Given the description of an element on the screen output the (x, y) to click on. 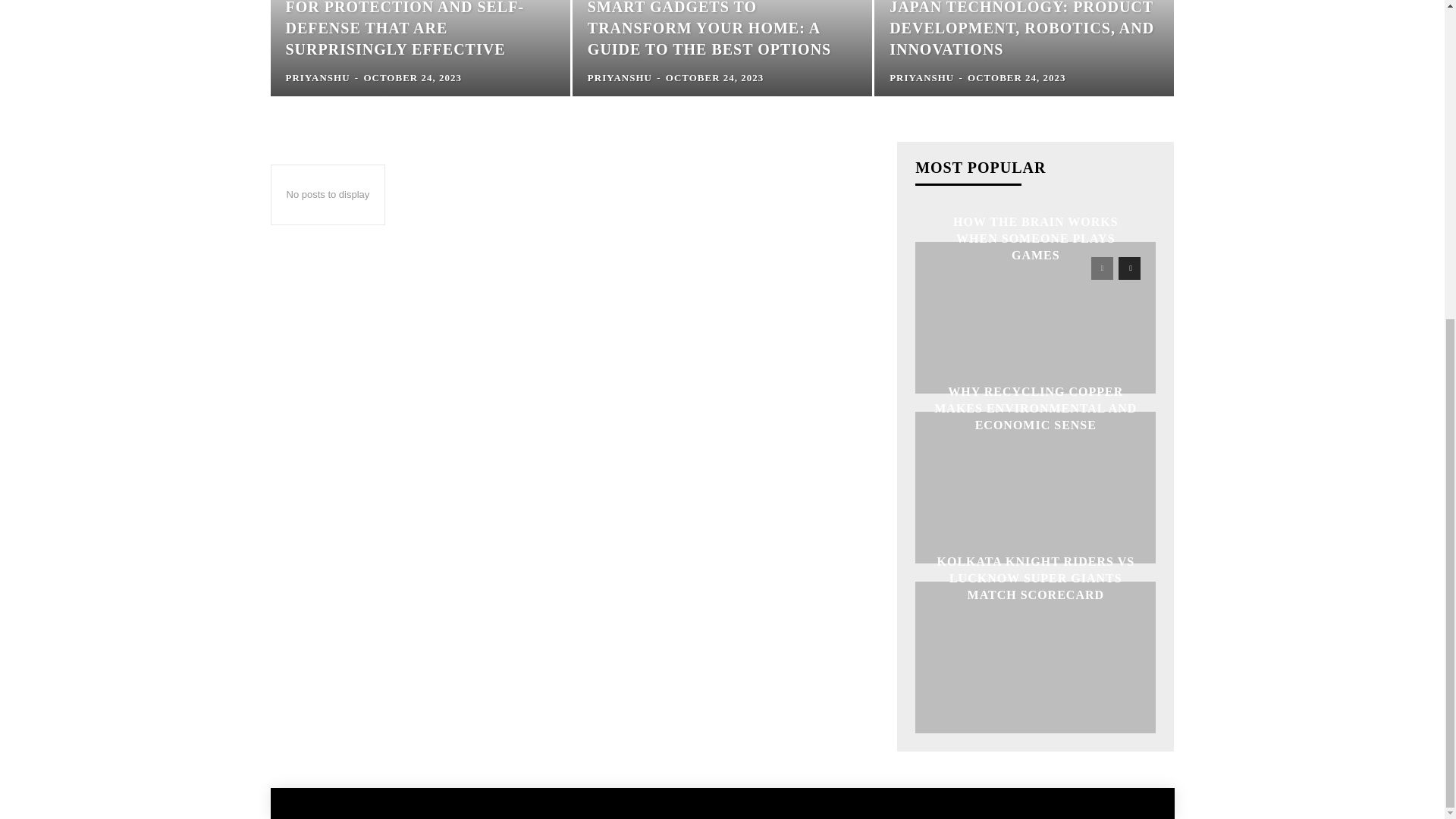
Why Recycling Copper Makes Environmental and Economic Sense (1035, 408)
How the Brain Works When Someone Plays Games (1035, 317)
PRIYANSHU (921, 77)
PRIYANSHU (620, 77)
PRIYANSHU (317, 77)
Why Recycling Copper Makes Environmental and Economic Sense (1035, 487)
How the Brain Works When Someone Plays Games (1035, 238)
HOW THE BRAIN WORKS WHEN SOMEONE PLAYS GAMES (1035, 238)
